Given the description of an element on the screen output the (x, y) to click on. 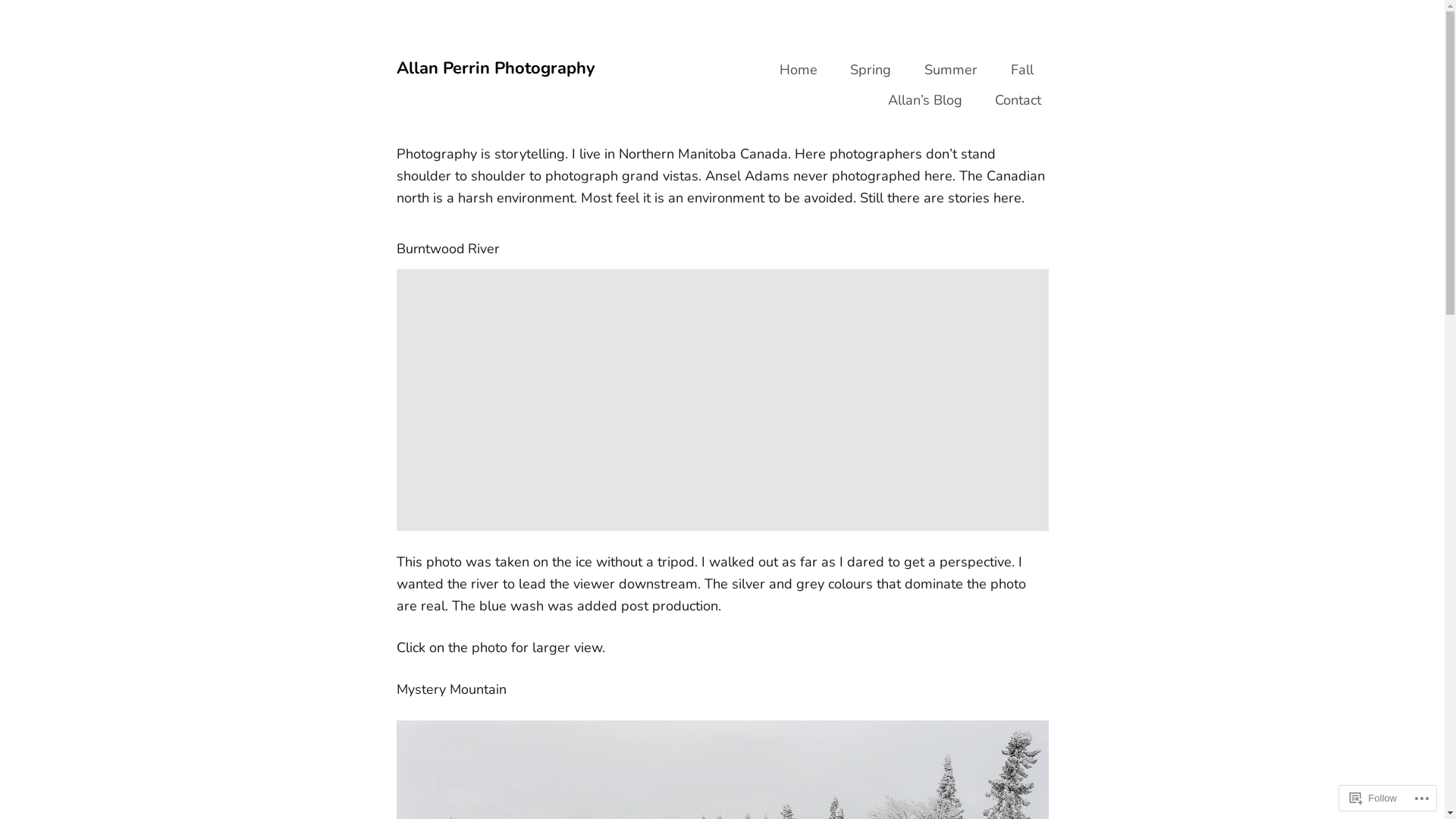
Spring Element type: text (870, 70)
Home Element type: text (798, 70)
Allan Perrin Photography Element type: text (494, 67)
Summer Element type: text (950, 70)
Fall Element type: text (1022, 70)
Follow Element type: text (1372, 797)
Contact Element type: text (1018, 100)
